Given the description of an element on the screen output the (x, y) to click on. 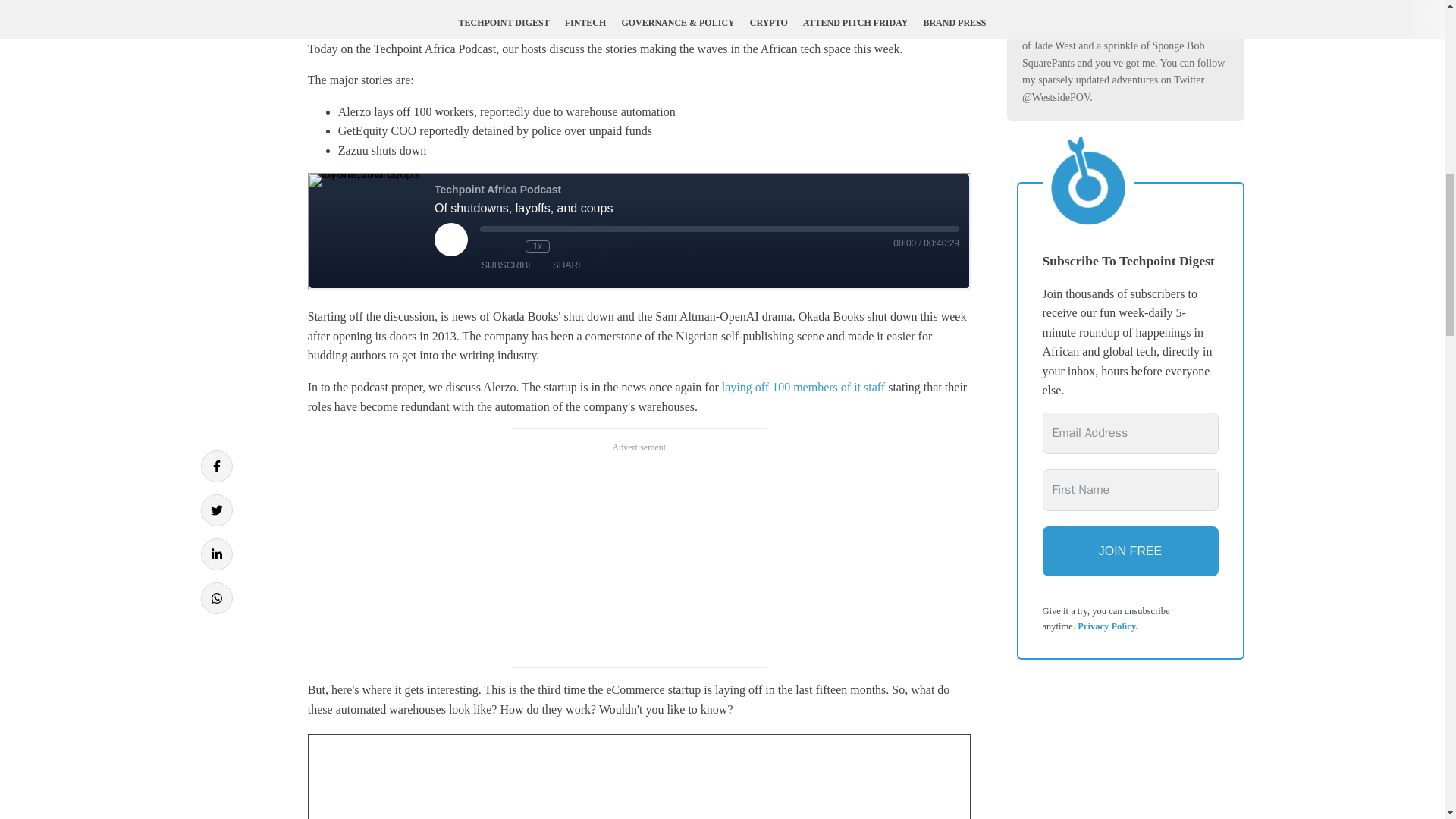
JOIN FREE (1129, 551)
laying off 100 members of it staff (803, 386)
Privacy Policy. (1107, 625)
